Given the description of an element on the screen output the (x, y) to click on. 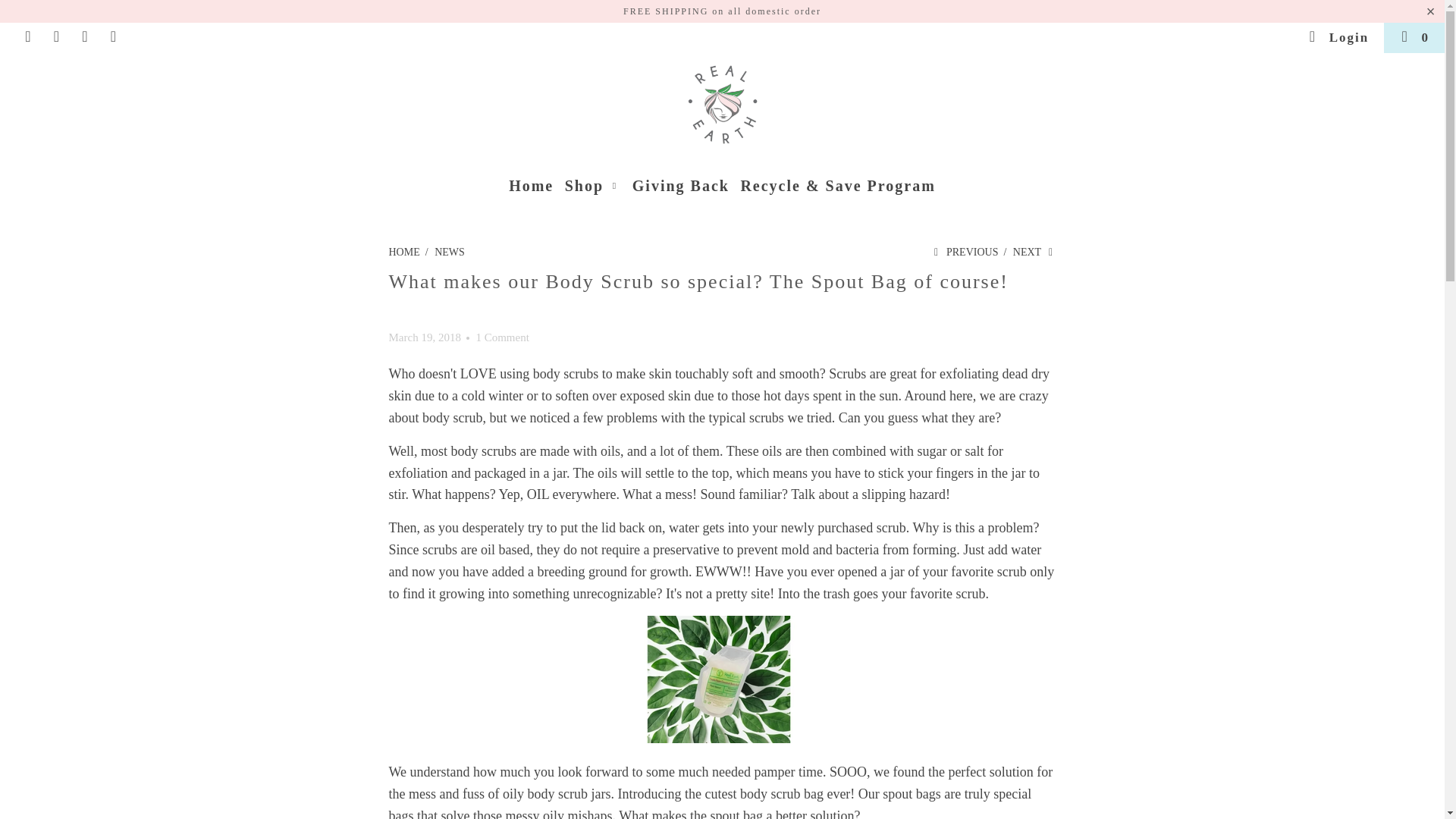
Real Earth on Facebook (27, 37)
Real Earth on Instagram (84, 37)
Email Real Earth (113, 37)
News (448, 251)
Home (530, 186)
Login (1338, 37)
Real Earth (403, 251)
Real Earth on Pinterest (55, 37)
My Account  (1338, 37)
